Given the description of an element on the screen output the (x, y) to click on. 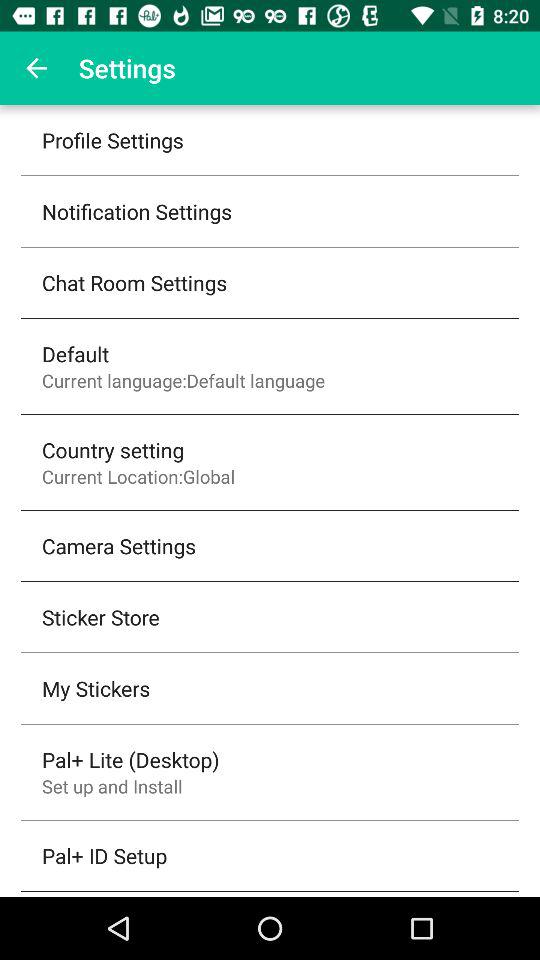
press country setting (113, 449)
